Given the description of an element on the screen output the (x, y) to click on. 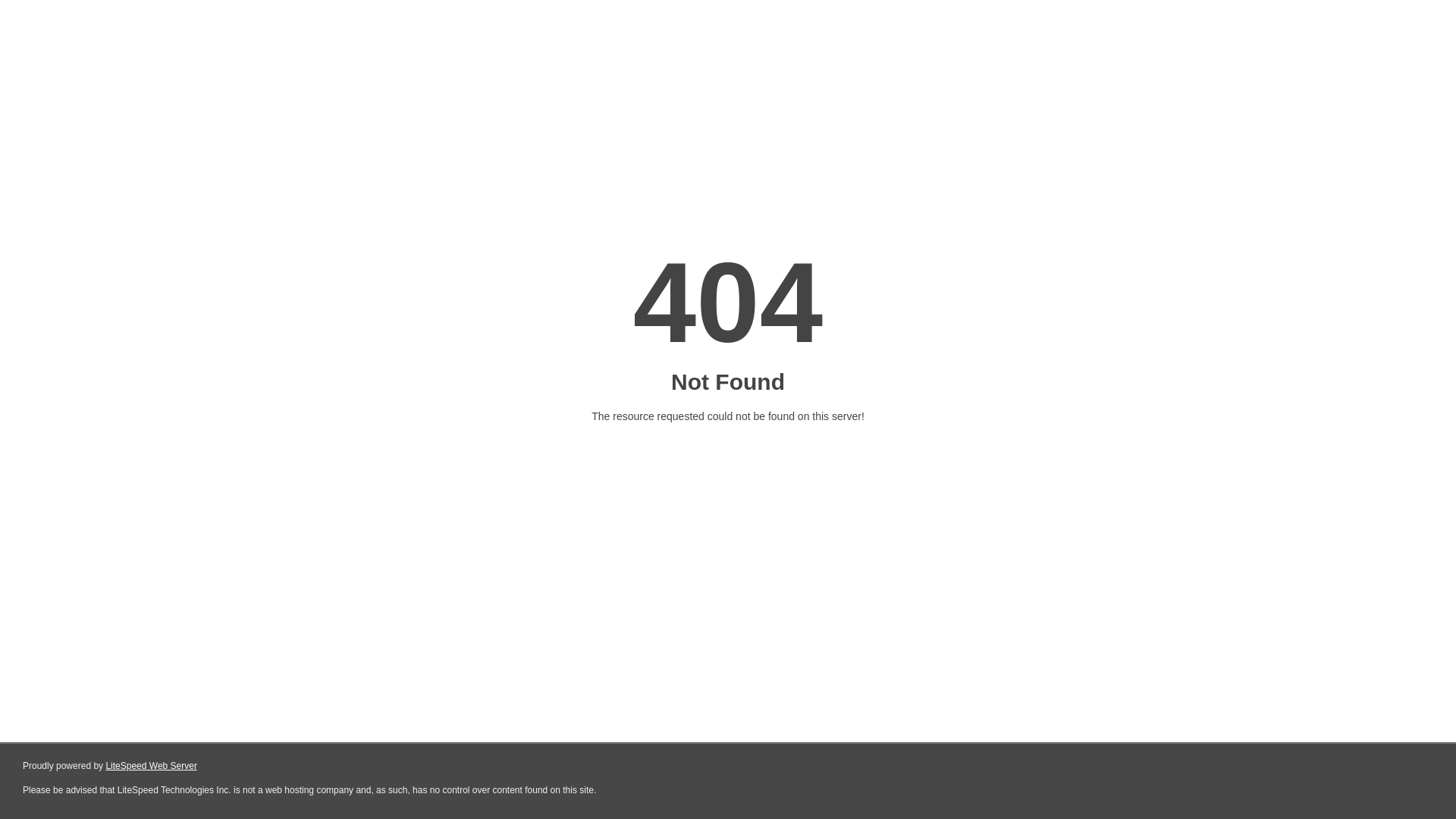
LiteSpeed Web Server Element type: text (151, 765)
